Given the description of an element on the screen output the (x, y) to click on. 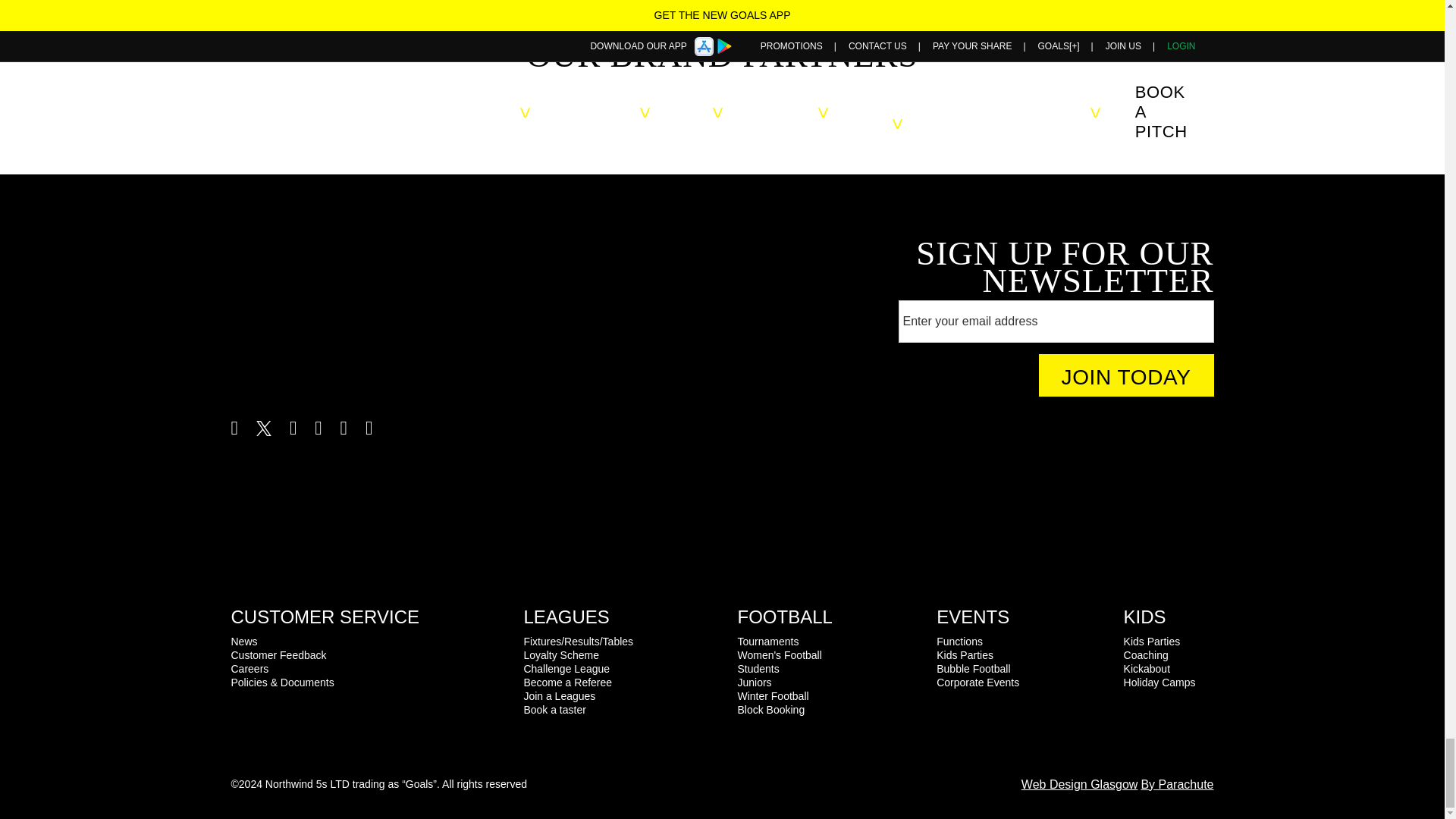
Join today (1126, 374)
